Given the description of an element on the screen output the (x, y) to click on. 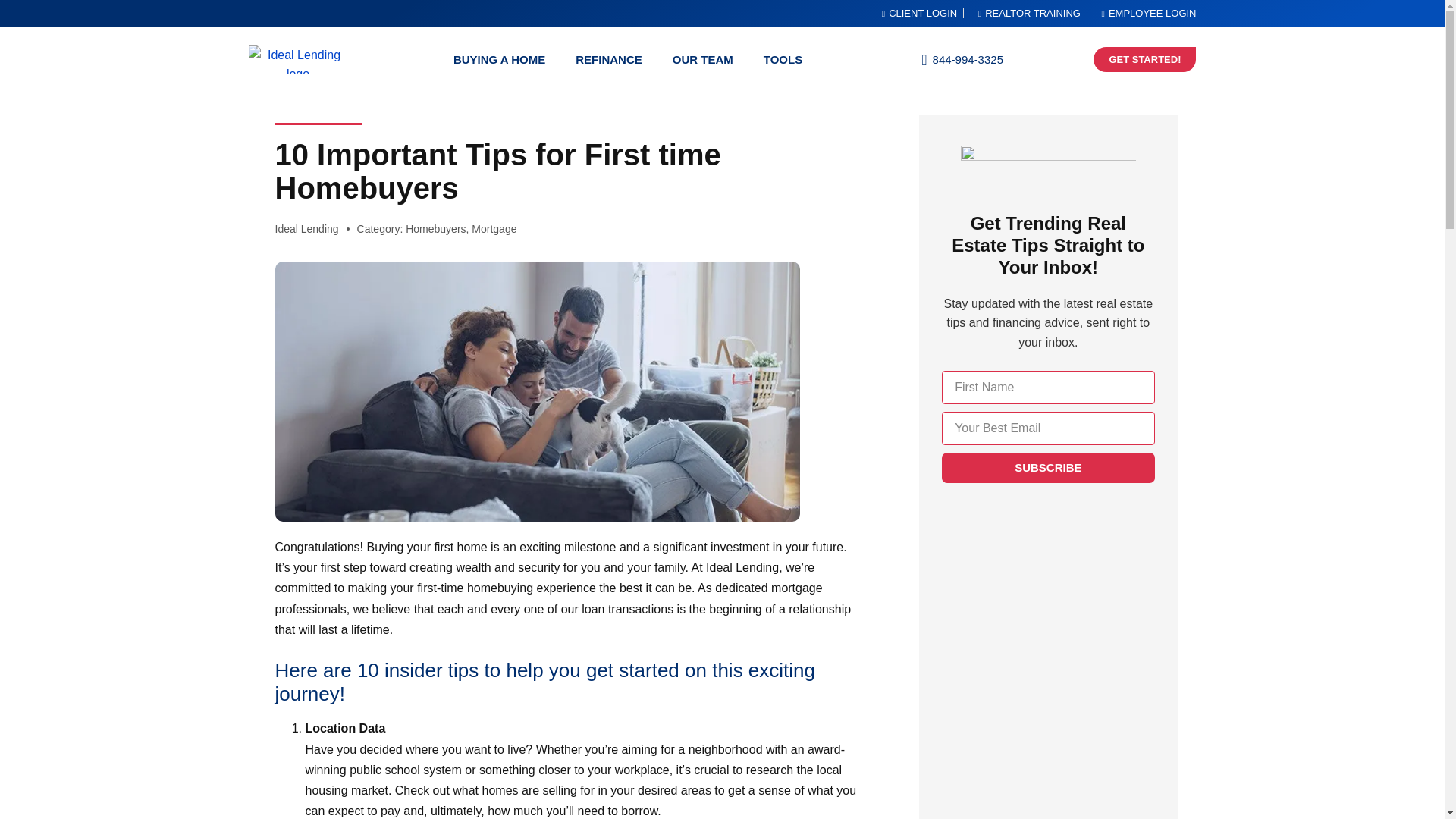
BUYING A HOME (499, 59)
REFINANCE (609, 59)
OUR TEAM (703, 59)
TOOLS (782, 59)
CLIENT LOGIN (914, 13)
EMPLOYEE LOGIN (1144, 13)
REALTOR TRAINING (1024, 13)
